Given the description of an element on the screen output the (x, y) to click on. 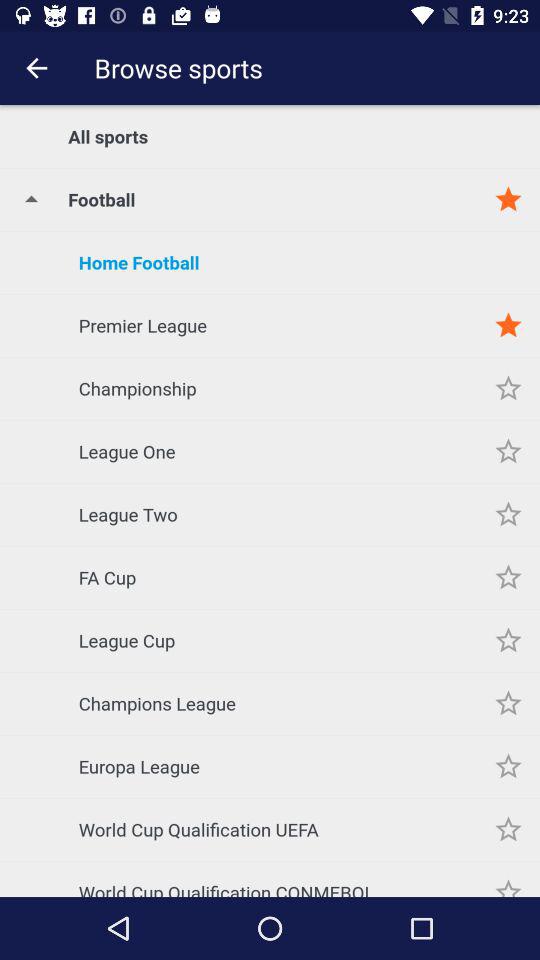
toggle favorite (508, 577)
